Given the description of an element on the screen output the (x, y) to click on. 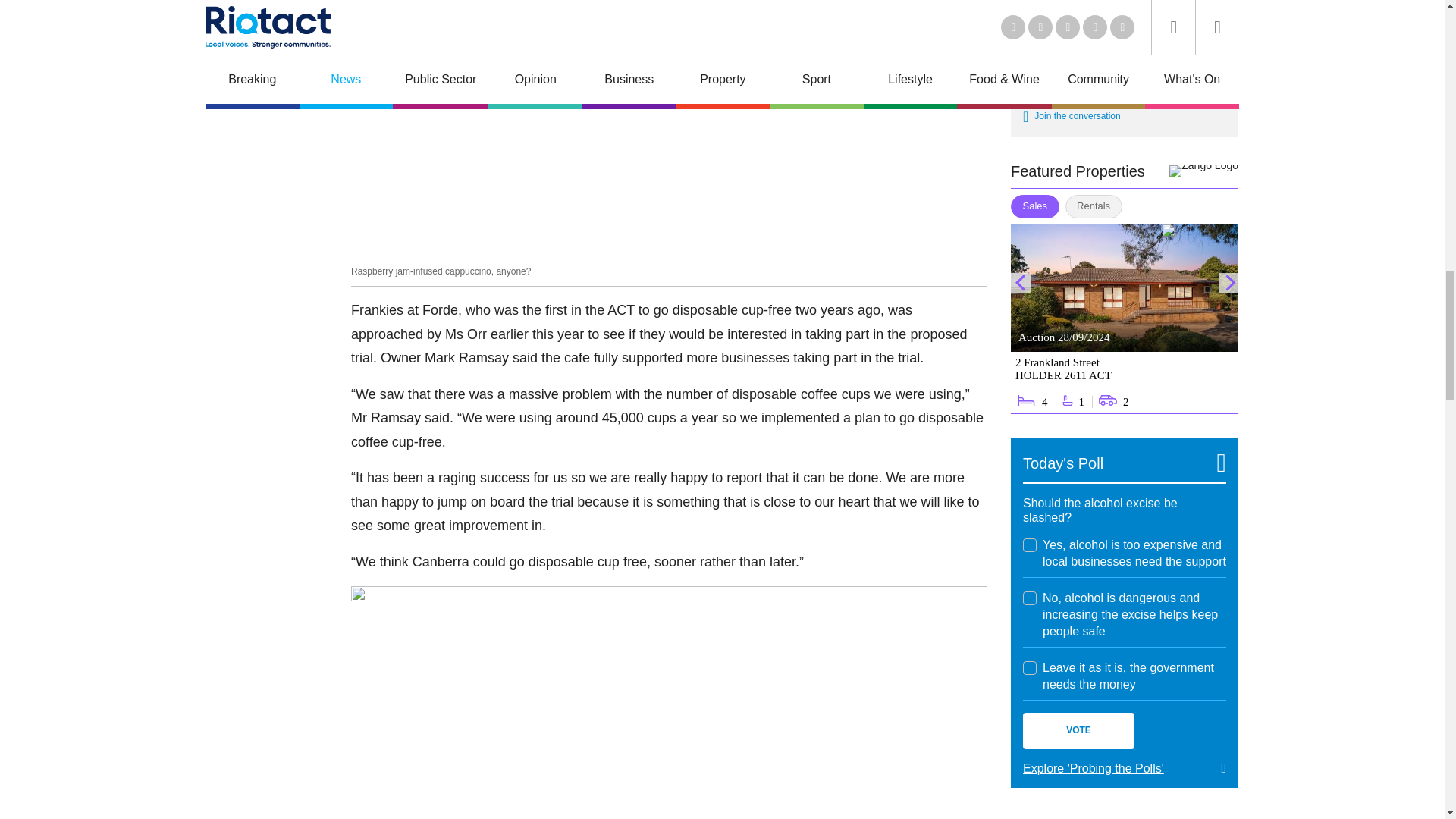
Zango Sales (1124, 319)
2046 (1029, 545)
2048 (1029, 667)
Zango (1204, 171)
   Vote    (1078, 730)
2047 (1029, 598)
